Given the description of an element on the screen output the (x, y) to click on. 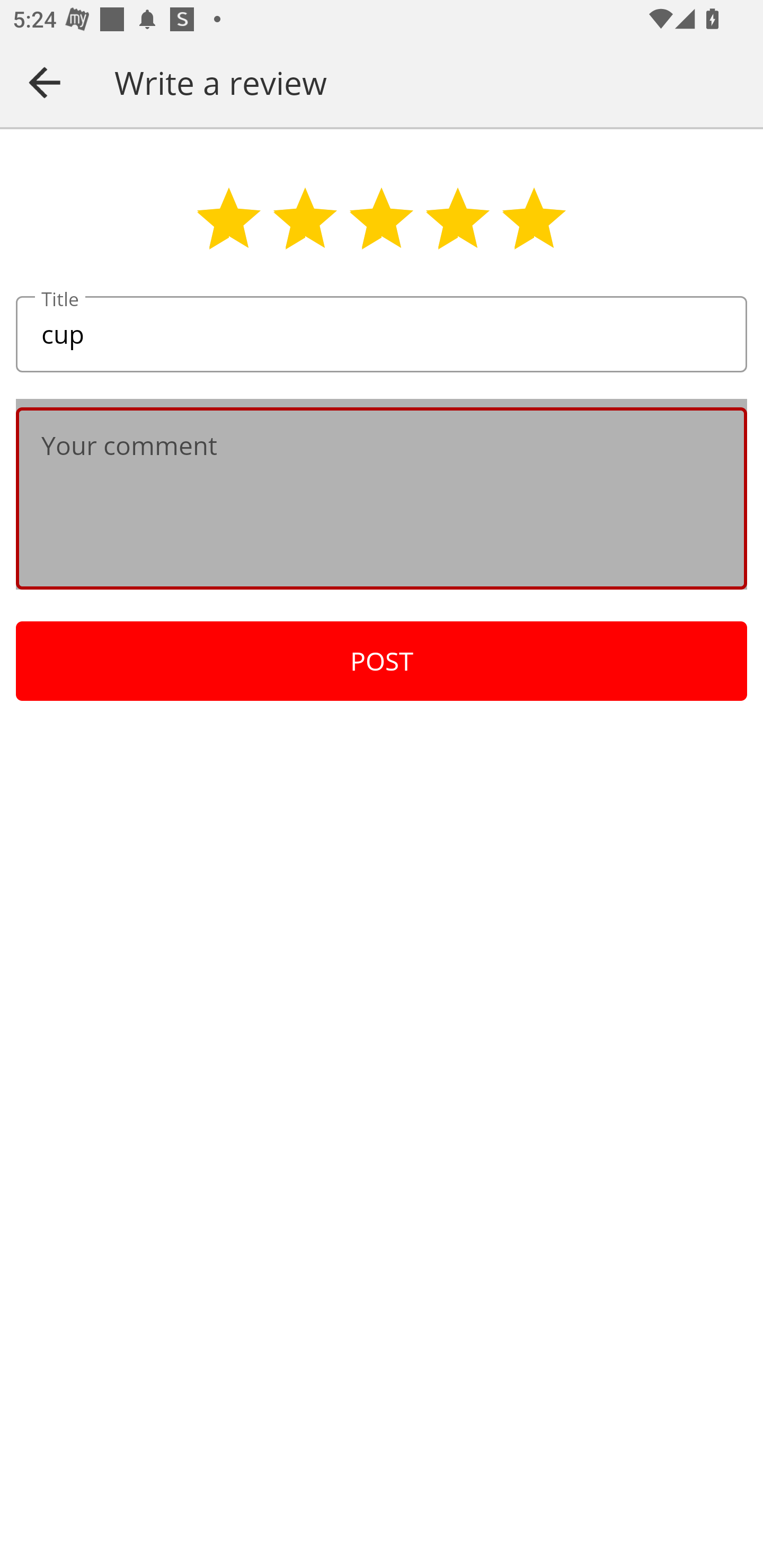
Navigate up (44, 82)
cup (381, 334)
Your comment (381, 498)
POST (381, 660)
